Given the description of an element on the screen output the (x, y) to click on. 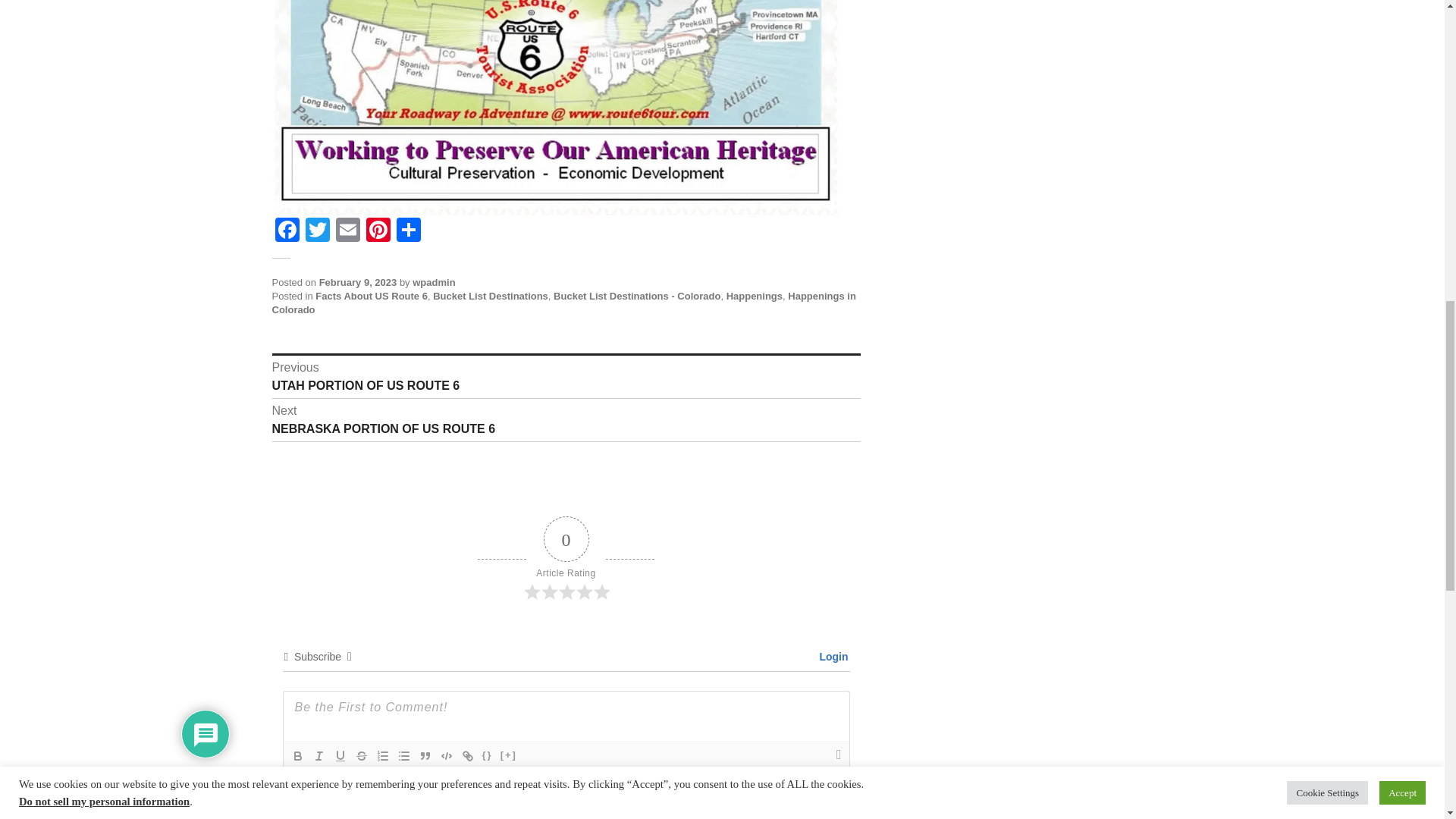
Twitter (316, 231)
Facebook (285, 231)
Underline (339, 755)
Strike (360, 755)
Pinterest (377, 231)
Ordered List (382, 755)
Bold (296, 755)
Italic (318, 755)
Email (346, 231)
